Given the description of an element on the screen output the (x, y) to click on. 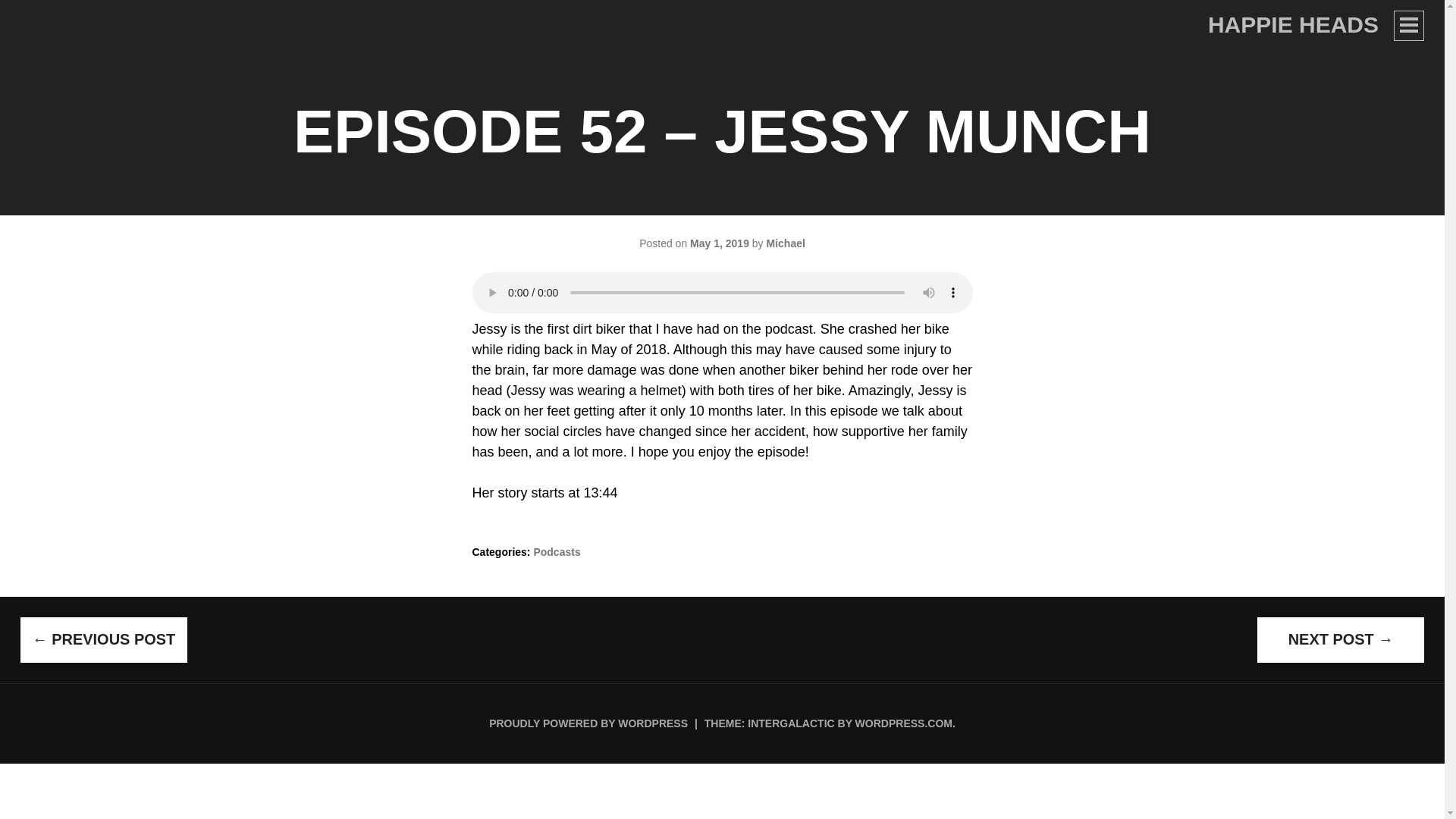
HAPPIE HEADS (1293, 24)
Podcasts (555, 551)
May 1, 2019 (719, 243)
WORDPRESS.COM (904, 723)
PROUDLY POWERED BY WORDPRESS (588, 723)
PRIMARY MENU (1408, 25)
Michael (785, 243)
